Given the description of an element on the screen output the (x, y) to click on. 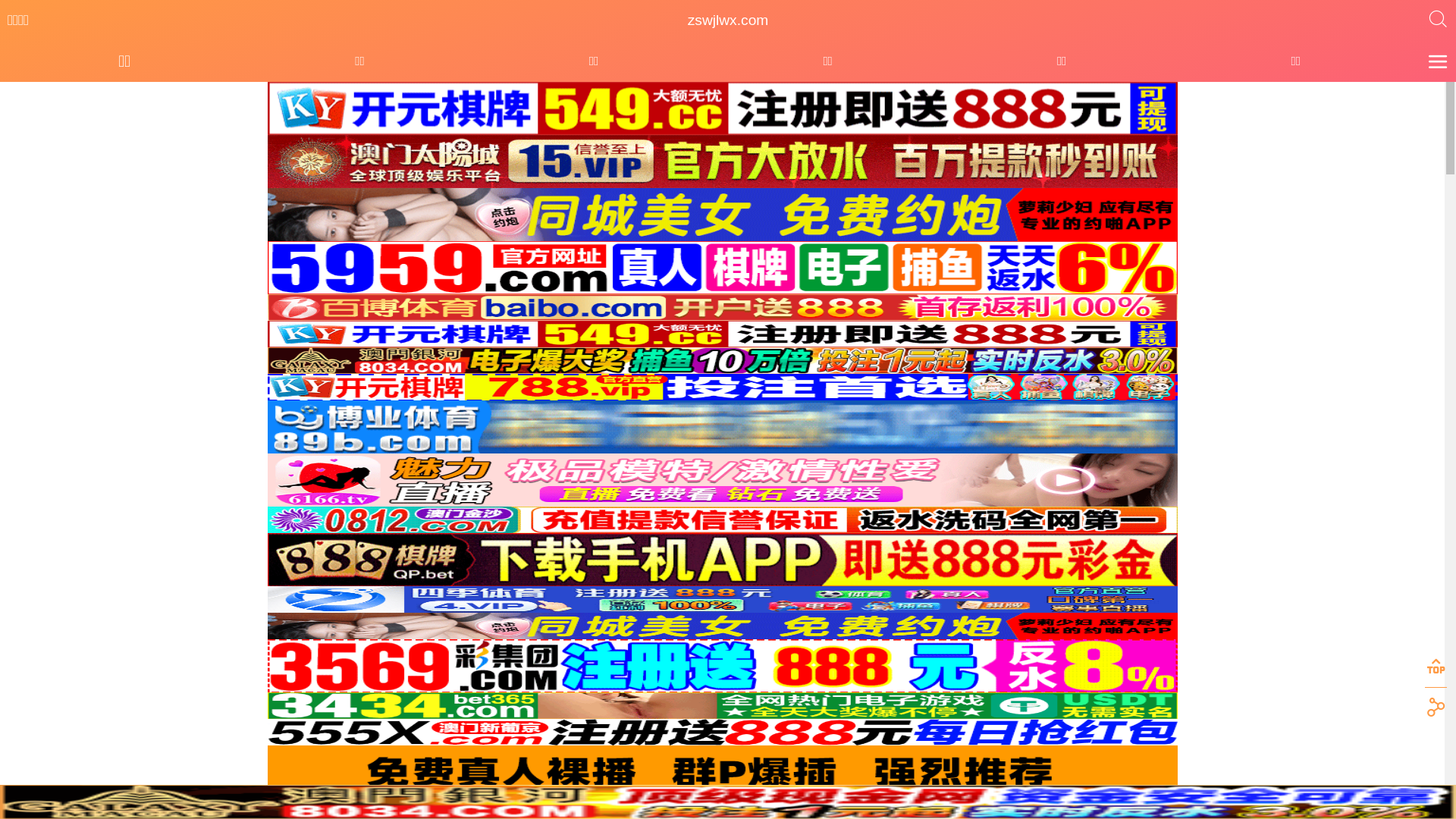
zswjlwx.com Element type: text (727, 20)
